Given the description of an element on the screen output the (x, y) to click on. 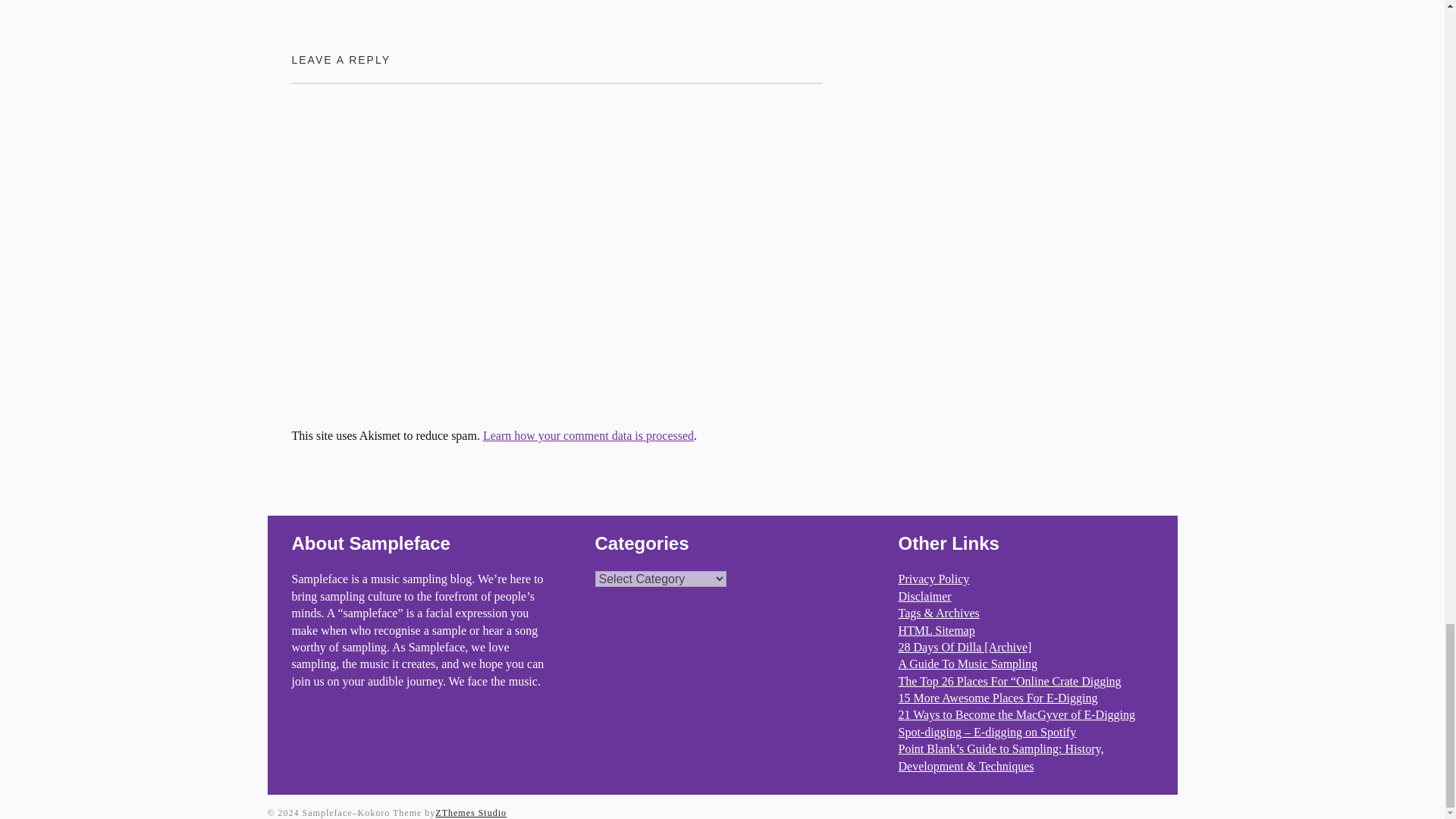
Learn how your comment data is processed (588, 435)
Disclaimer (924, 595)
Privacy Policy (933, 578)
